Given the description of an element on the screen output the (x, y) to click on. 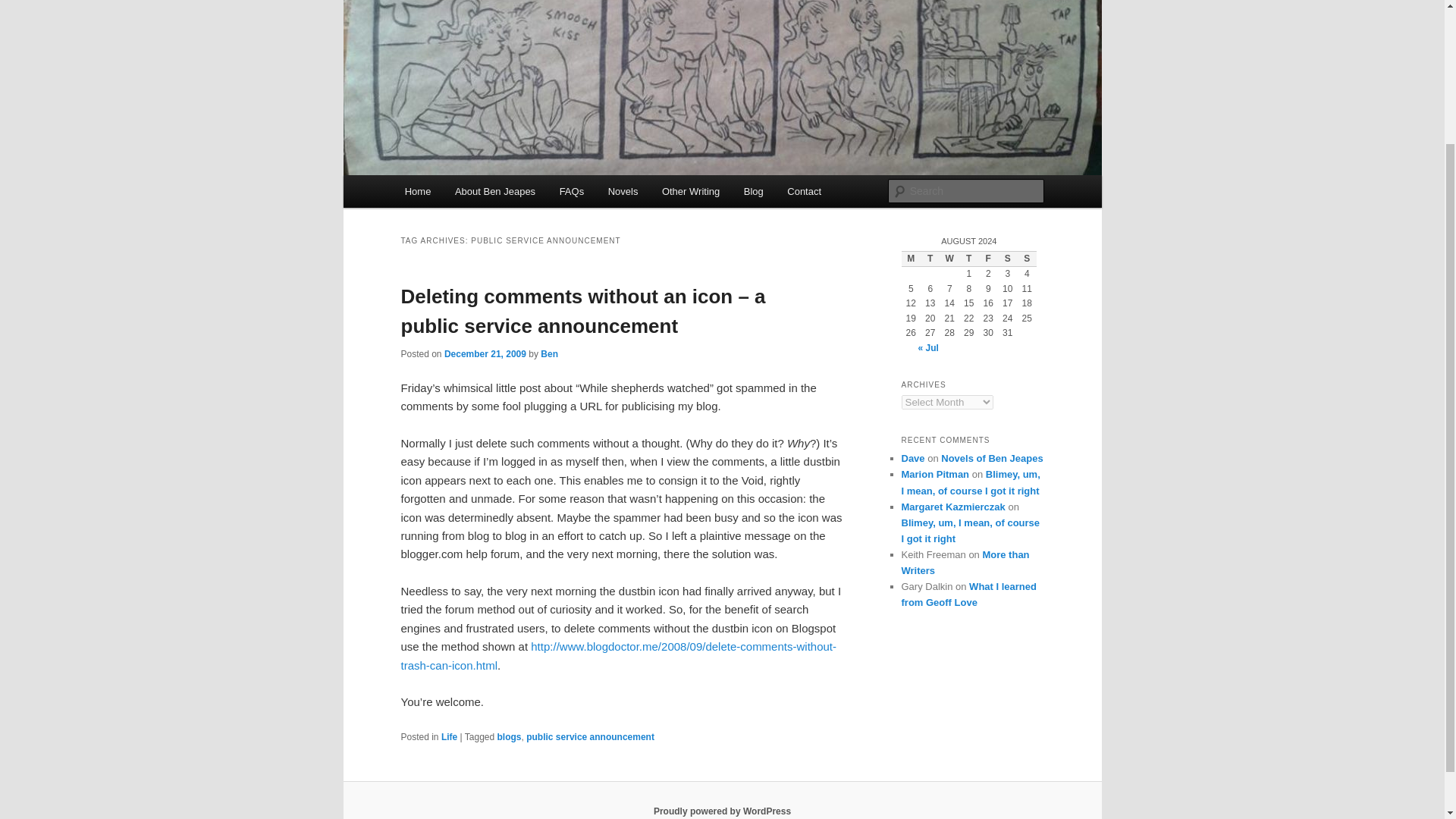
FAQs (571, 191)
Sunday (1026, 258)
Home (417, 191)
Wednesday (949, 258)
Thursday (968, 258)
Saturday (1007, 258)
12:29 pm (484, 353)
Other Writing (690, 191)
Monday (910, 258)
View all posts by Ben (548, 353)
